Given the description of an element on the screen output the (x, y) to click on. 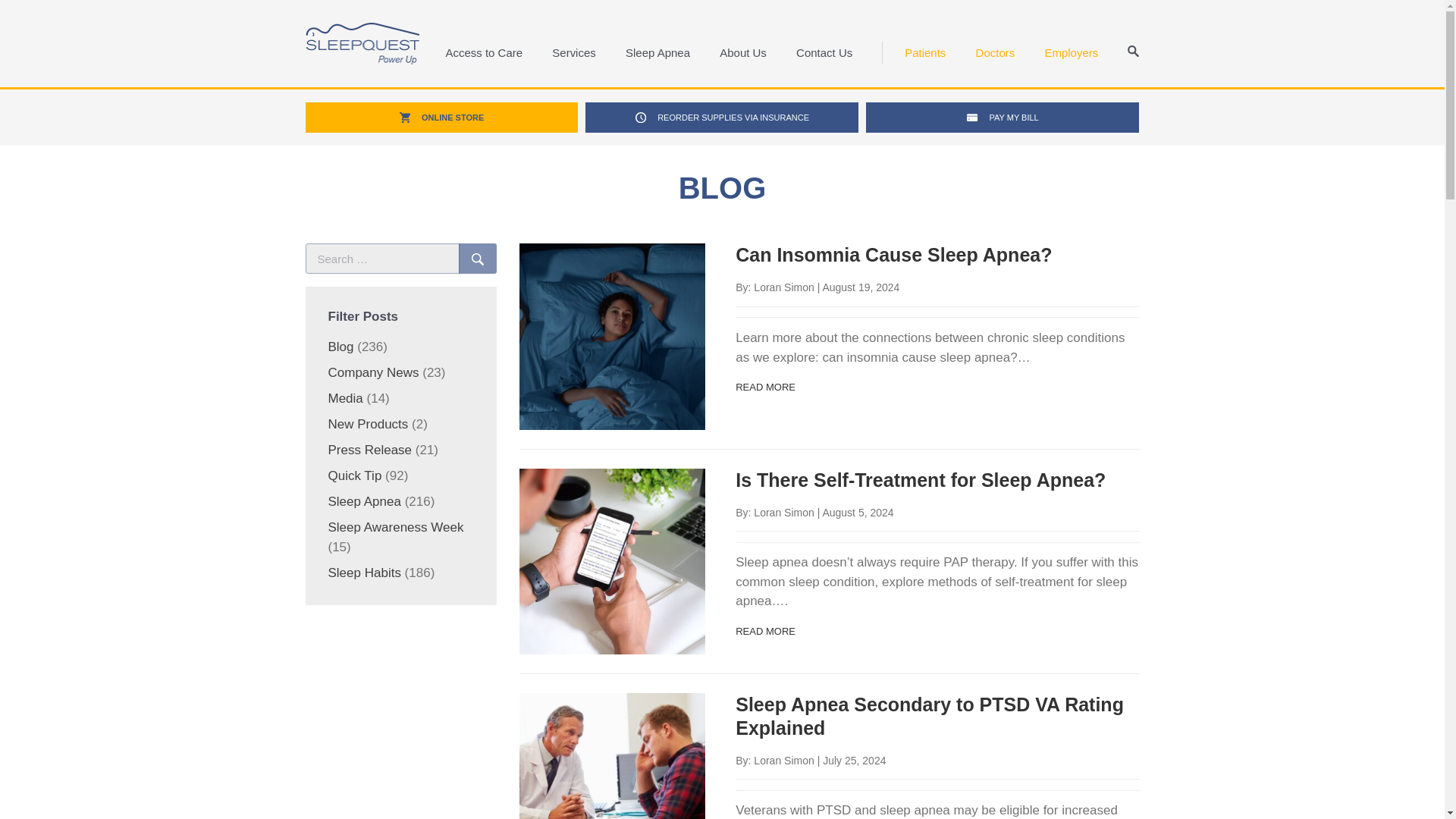
Employers (1070, 52)
Patients (924, 52)
Sleep Apnea (658, 52)
Services (573, 52)
Access to Care (483, 52)
About Us (743, 52)
Access to Care (483, 52)
Contact Us (823, 52)
Doctors (994, 52)
About Us (743, 52)
